Given the description of an element on the screen output the (x, y) to click on. 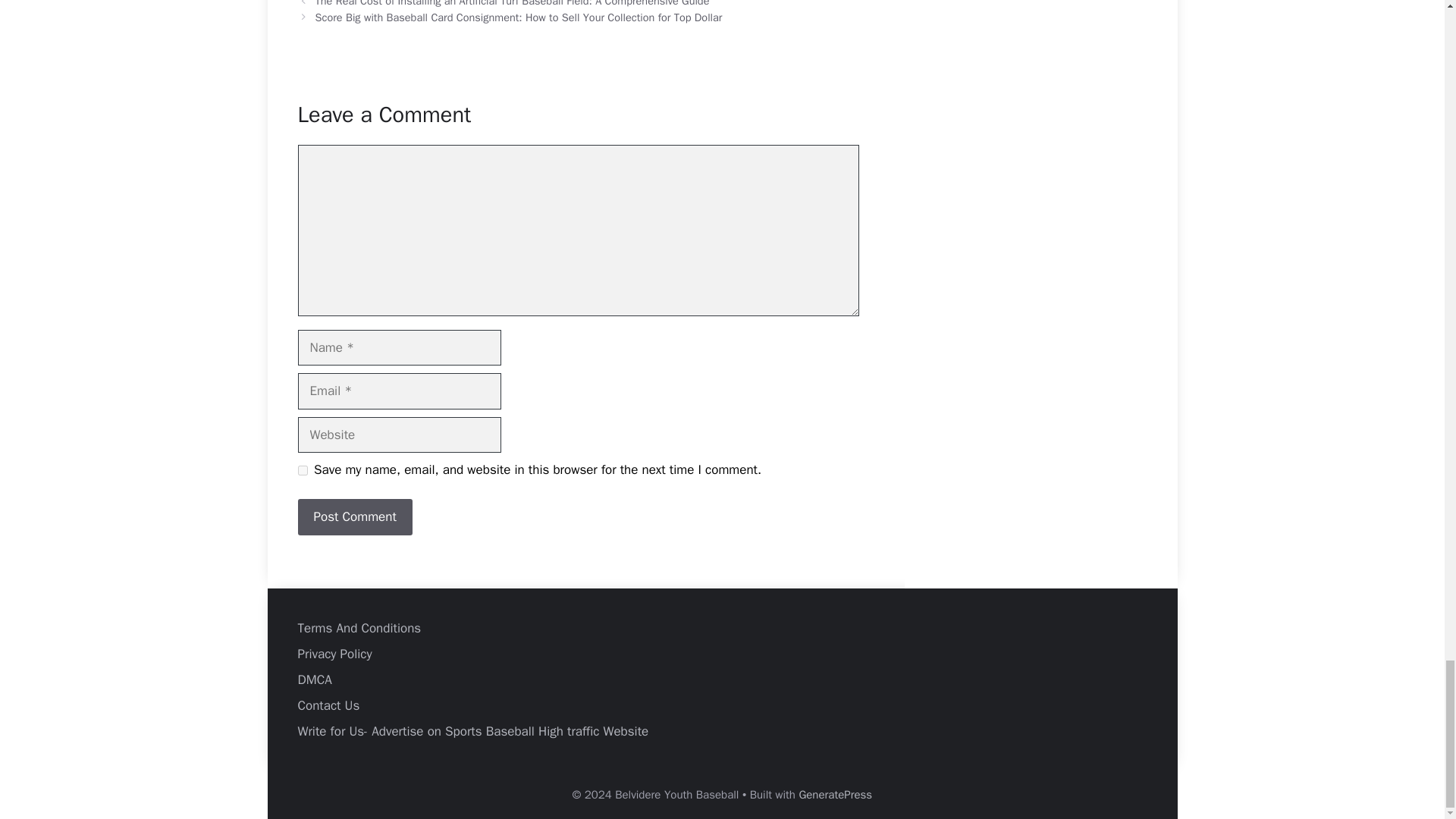
DMCA (314, 679)
Contact Us (328, 705)
Terms And Conditions (358, 627)
yes (302, 470)
Post Comment (354, 516)
Post Comment (354, 516)
GeneratePress (834, 794)
